Given the description of an element on the screen output the (x, y) to click on. 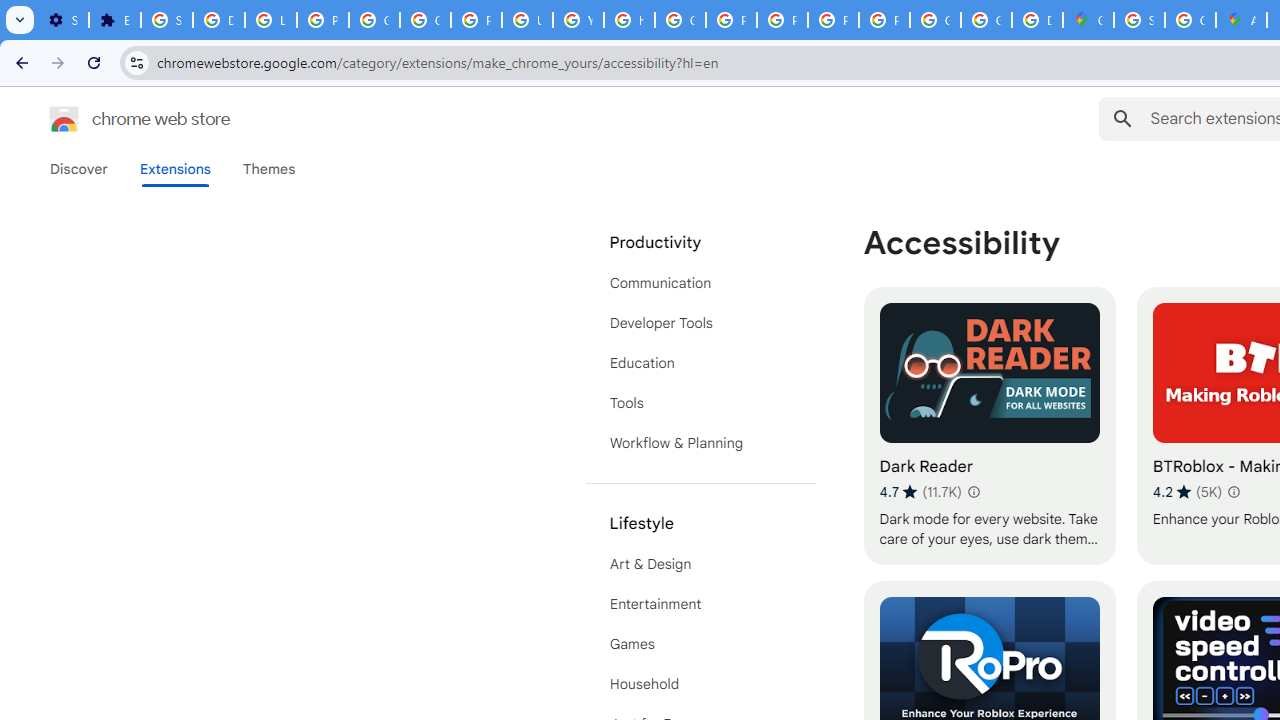
Discover (79, 169)
Extensions (174, 169)
Entertainment (700, 603)
Tools (700, 403)
Education (700, 362)
YouTube (578, 20)
Dark Reader (989, 426)
Art & Design (700, 563)
Themes (269, 169)
Chrome Web Store logo (63, 118)
